Given the description of an element on the screen output the (x, y) to click on. 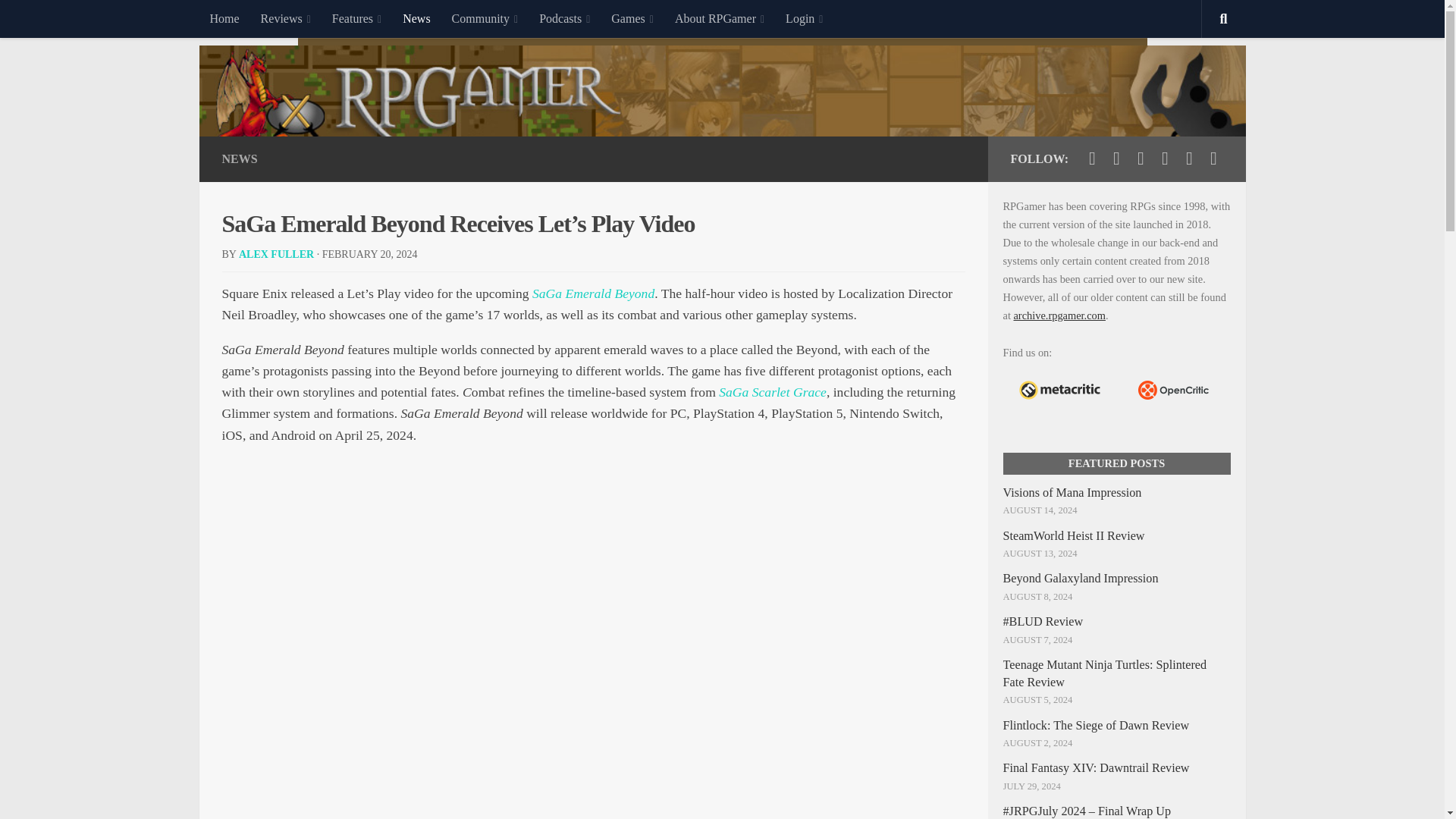
Follow us on Facebook (1115, 158)
Follow us on Youtube (1140, 158)
Follow us on Rss (1213, 158)
Posts by Alex Fuller (276, 254)
Follow us on Twitch (1164, 158)
Follow us on Twitter (1091, 158)
Skip to content (59, 20)
Follow us on Discord (1188, 158)
